Given the description of an element on the screen output the (x, y) to click on. 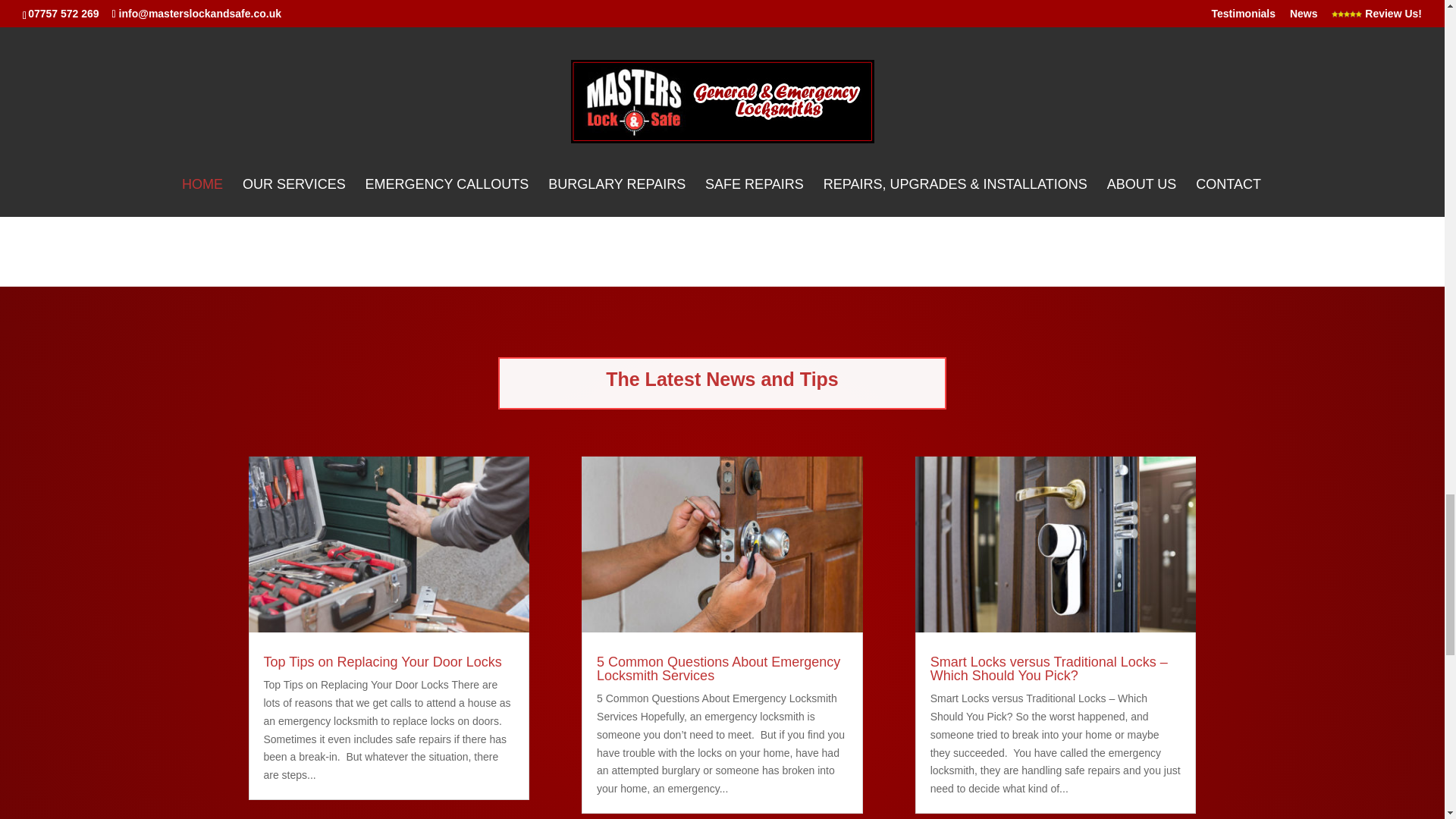
5 Common Questions About Emergency Locksmith Services (718, 668)
Top Tips on Replacing Your Door Locks (382, 661)
